Given the description of an element on the screen output the (x, y) to click on. 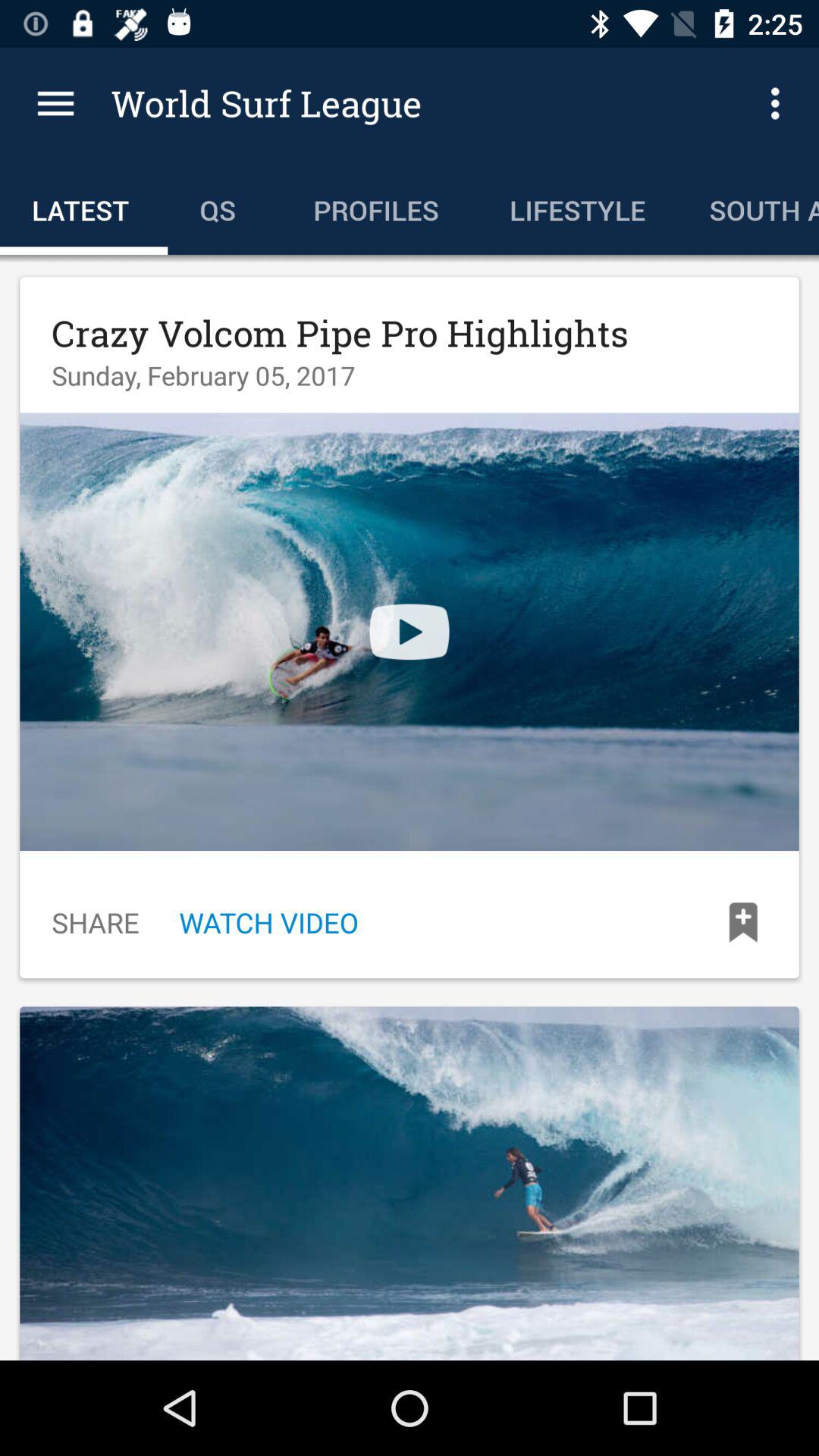
jump to the crazy volcom pipe (339, 332)
